Given the description of an element on the screen output the (x, y) to click on. 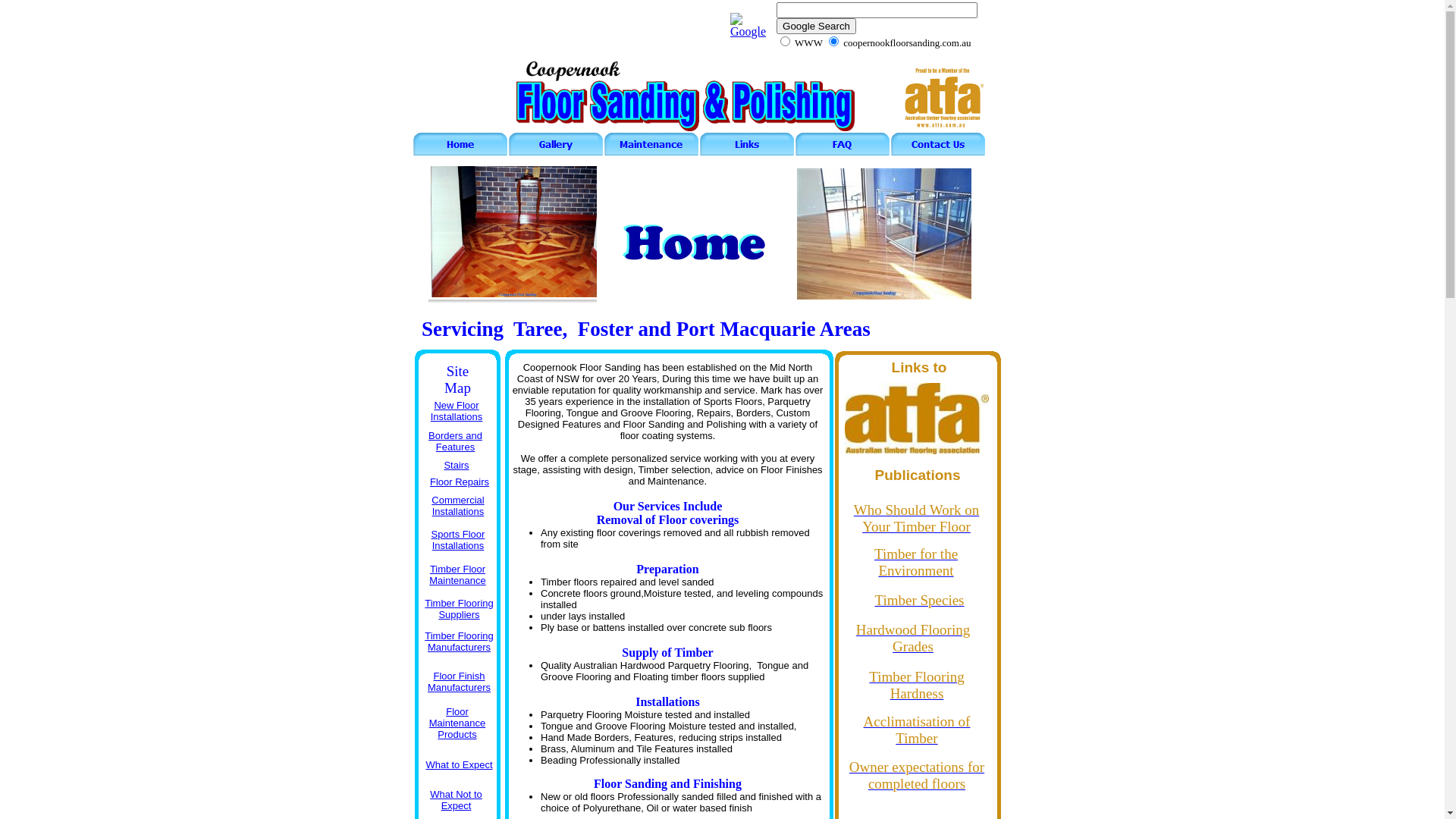
Australian Timber Flooring Assoisiation Website Element type: hover (942, 97)
Sports Floor
Installations Element type: text (457, 539)
Timber Flooring Hardness Element type: text (916, 685)
Hardwood Flooring Grades Element type: text (912, 638)
Stairs Element type: text (456, 464)
What to Expect Element type: text (459, 764)
What Not to Expect Element type: text (455, 799)
Borders and
Features Element type: text (455, 440)
Floor Repairs Element type: text (459, 481)
Timber for the Environment Element type: text (915, 562)
Google Search Element type: text (816, 26)
Timber Floor Maintenance Element type: text (457, 574)
Owner expectations for completed floors Element type: text (916, 775)
Acclimatisation of Timber Element type: text (916, 729)
Timber Flooring Manufacturers Element type: text (458, 641)
New Floor
Installations Element type: text (456, 410)
Commercial
Installations Element type: text (457, 505)
Timber Flooring Suppliers Element type: text (458, 608)
Who Should Work on Your Timber Floor Element type: text (916, 518)
Floor Maintenance Products Element type: text (457, 723)
Floor Finish Manufacturers Element type: text (458, 681)
Timber Species Element type: text (919, 600)
